Given the description of an element on the screen output the (x, y) to click on. 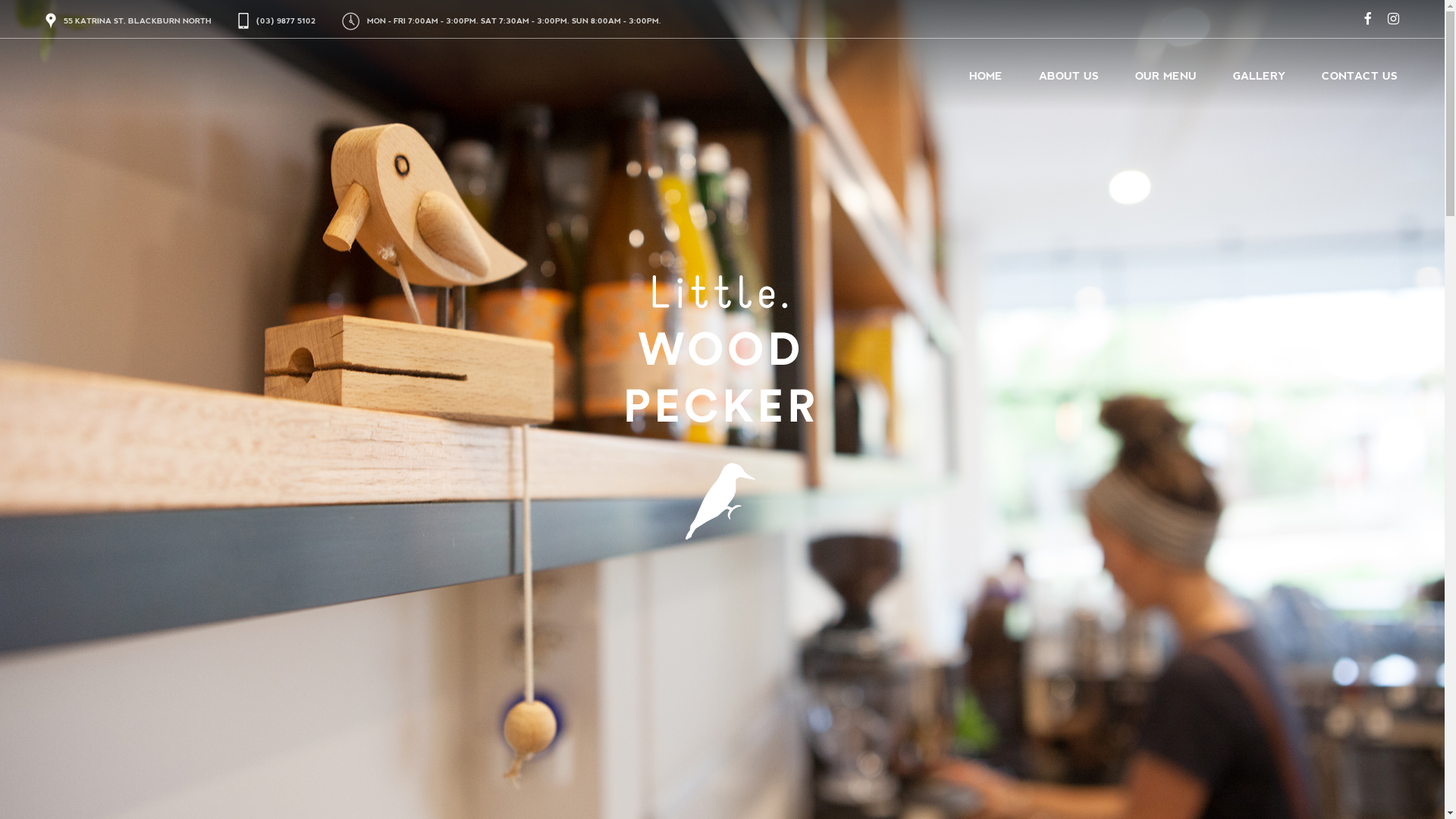
GALLERY Element type: text (1258, 77)
OUR MENU Element type: text (1165, 77)
CONTACT US Element type: text (1359, 77)
ABOUT US Element type: text (1068, 77)
HOME Element type: text (985, 77)
